Given the description of an element on the screen output the (x, y) to click on. 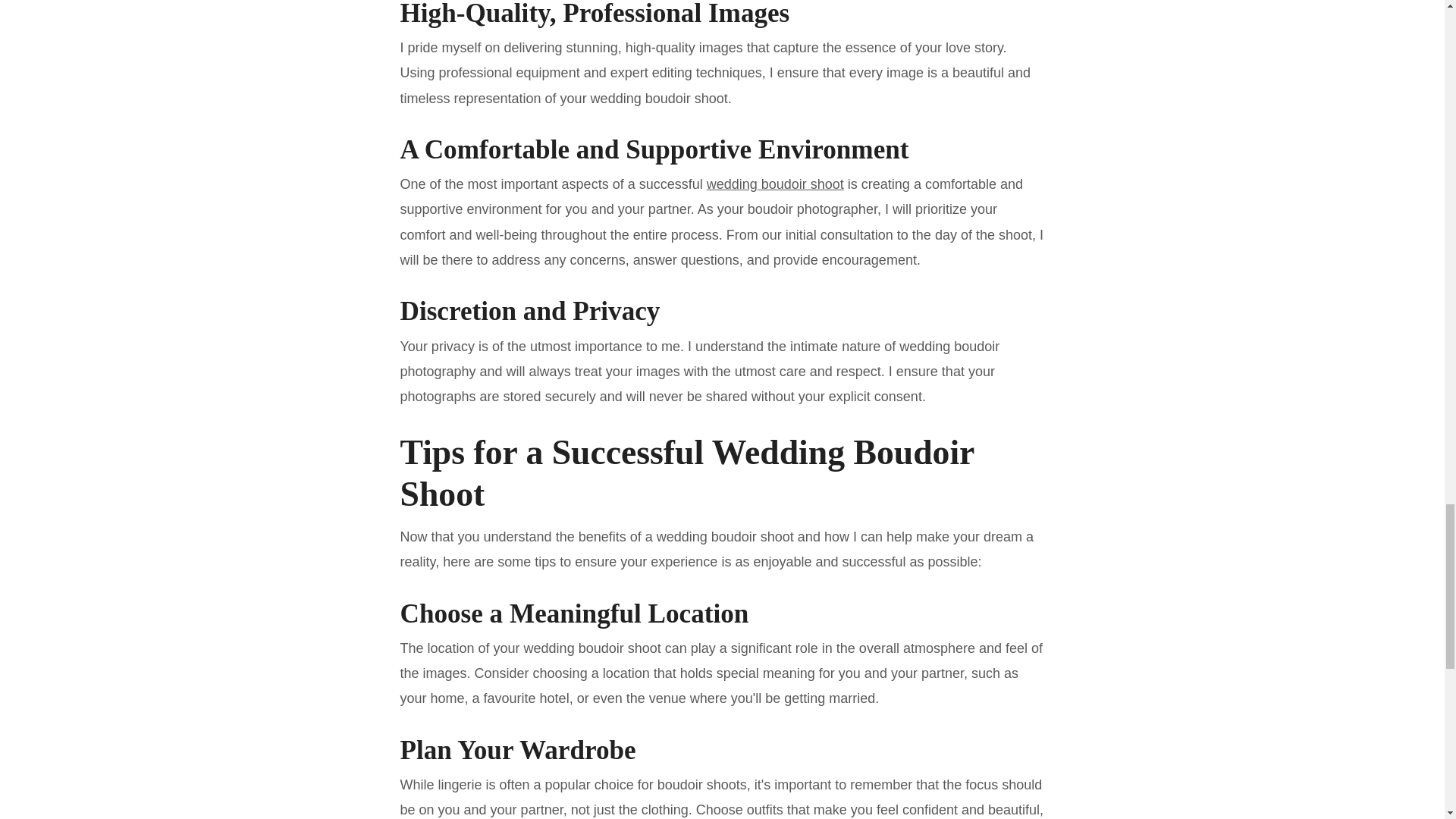
wedding boudoir shoot (775, 183)
